Given the description of an element on the screen output the (x, y) to click on. 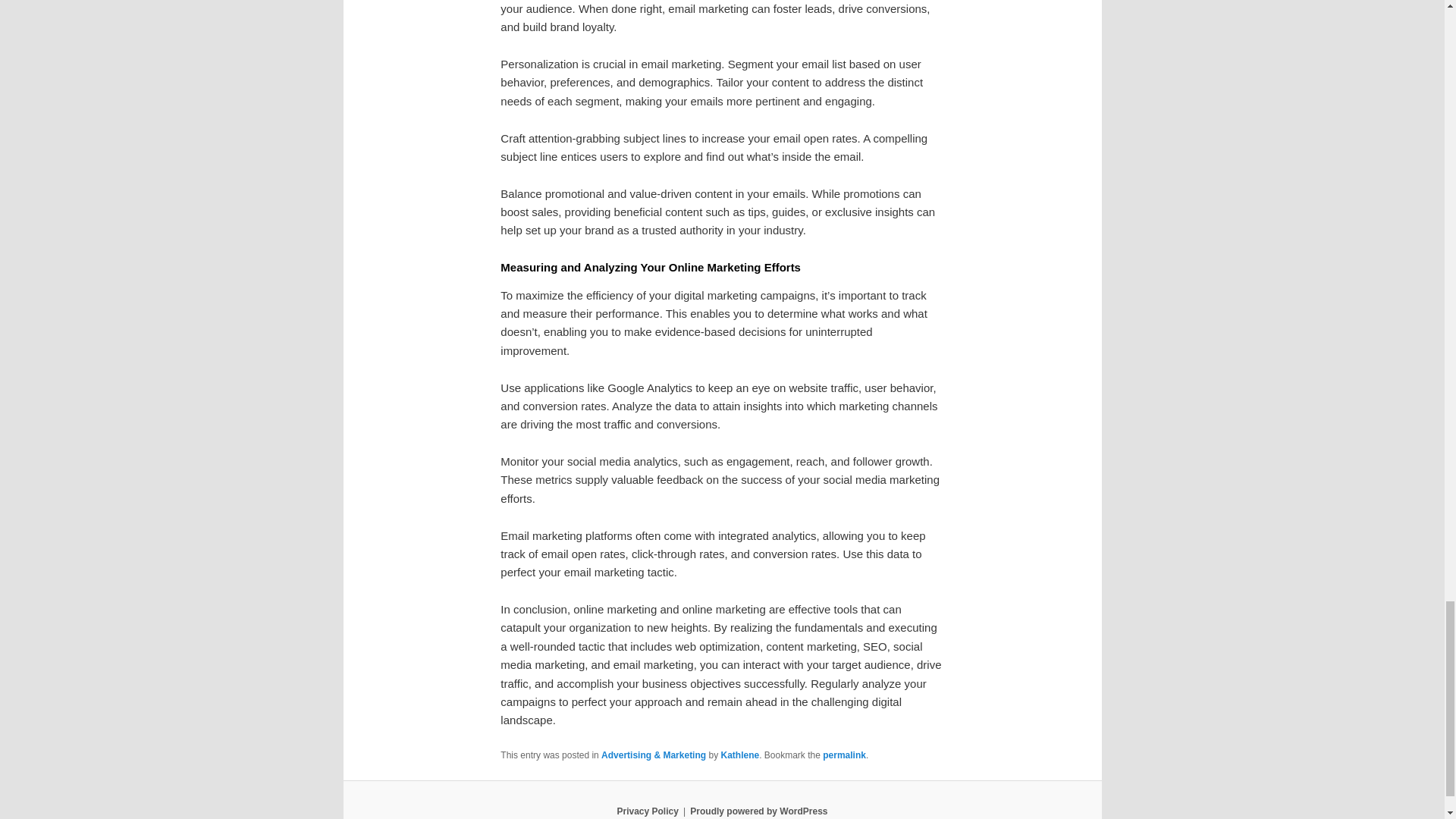
Proudly powered by WordPress (758, 810)
permalink (844, 755)
Privacy Policy (646, 810)
Semantic Personal Publishing Platform (758, 810)
Kathlene (739, 755)
